Given the description of an element on the screen output the (x, y) to click on. 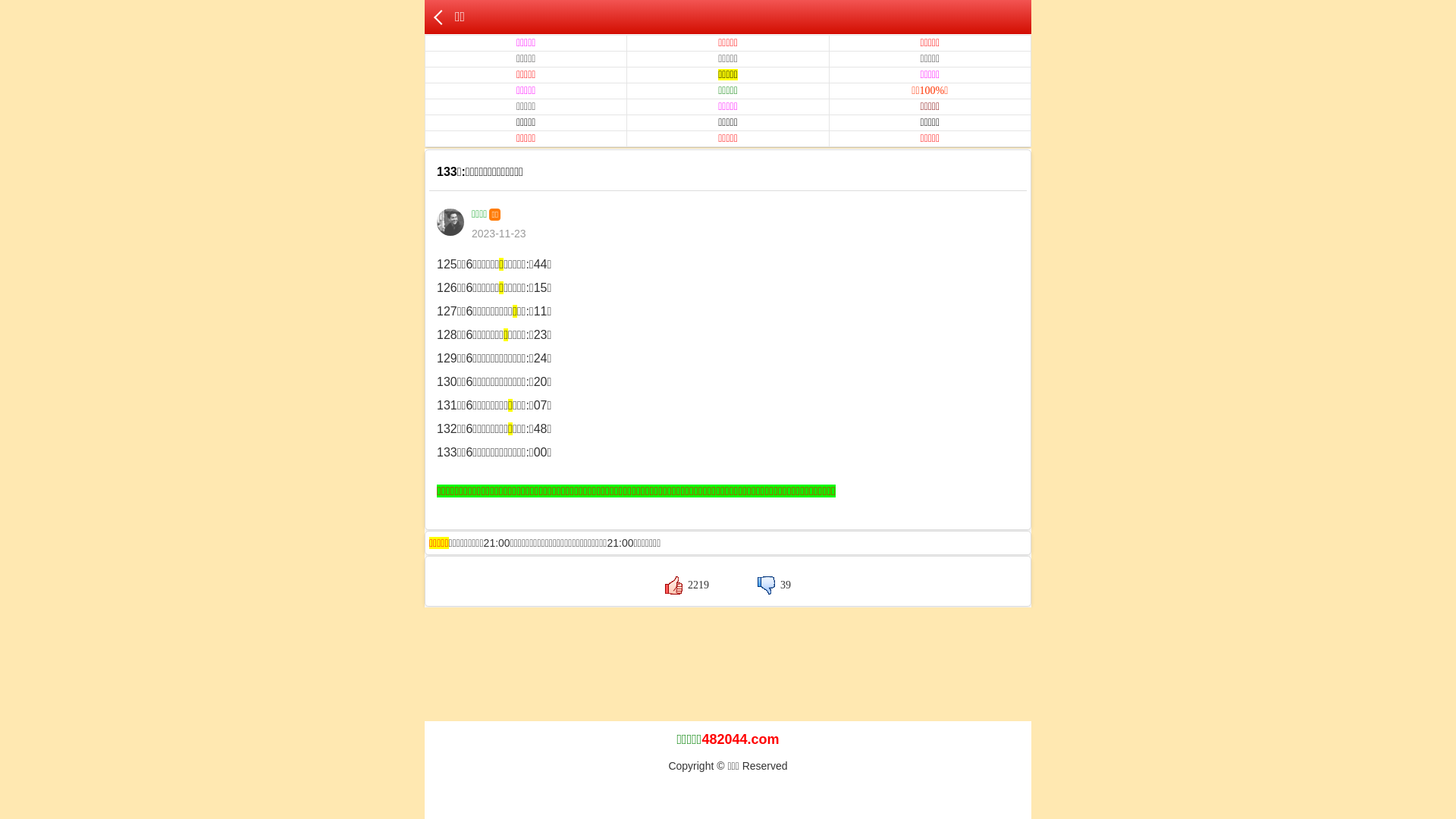
39 Element type: text (773, 584)
2219 Element type: text (687, 584)
